Given the description of an element on the screen output the (x, y) to click on. 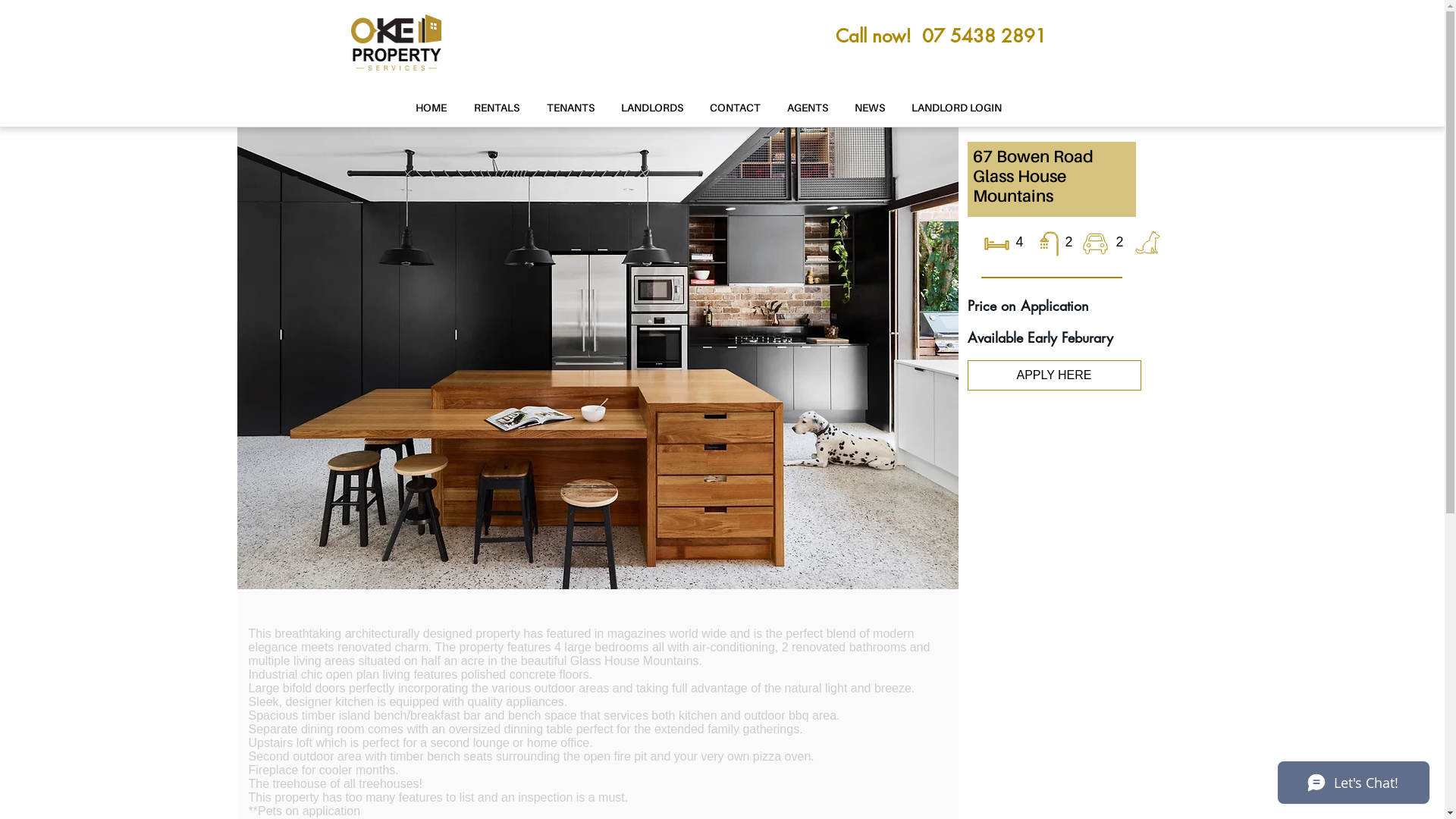
LANDLORD LOGIN Element type: text (955, 108)
NEWS Element type: text (869, 108)
HOME Element type: text (430, 108)
APPLY HERE Element type: text (1054, 375)
Call now!  07 5438 2891 Element type: text (940, 35)
TENANTS Element type: text (569, 108)
LANDLORDS Element type: text (652, 108)
RENTALS Element type: text (495, 108)
AGENTS Element type: text (806, 108)
CONTACT Element type: text (734, 108)
